Given the description of an element on the screen output the (x, y) to click on. 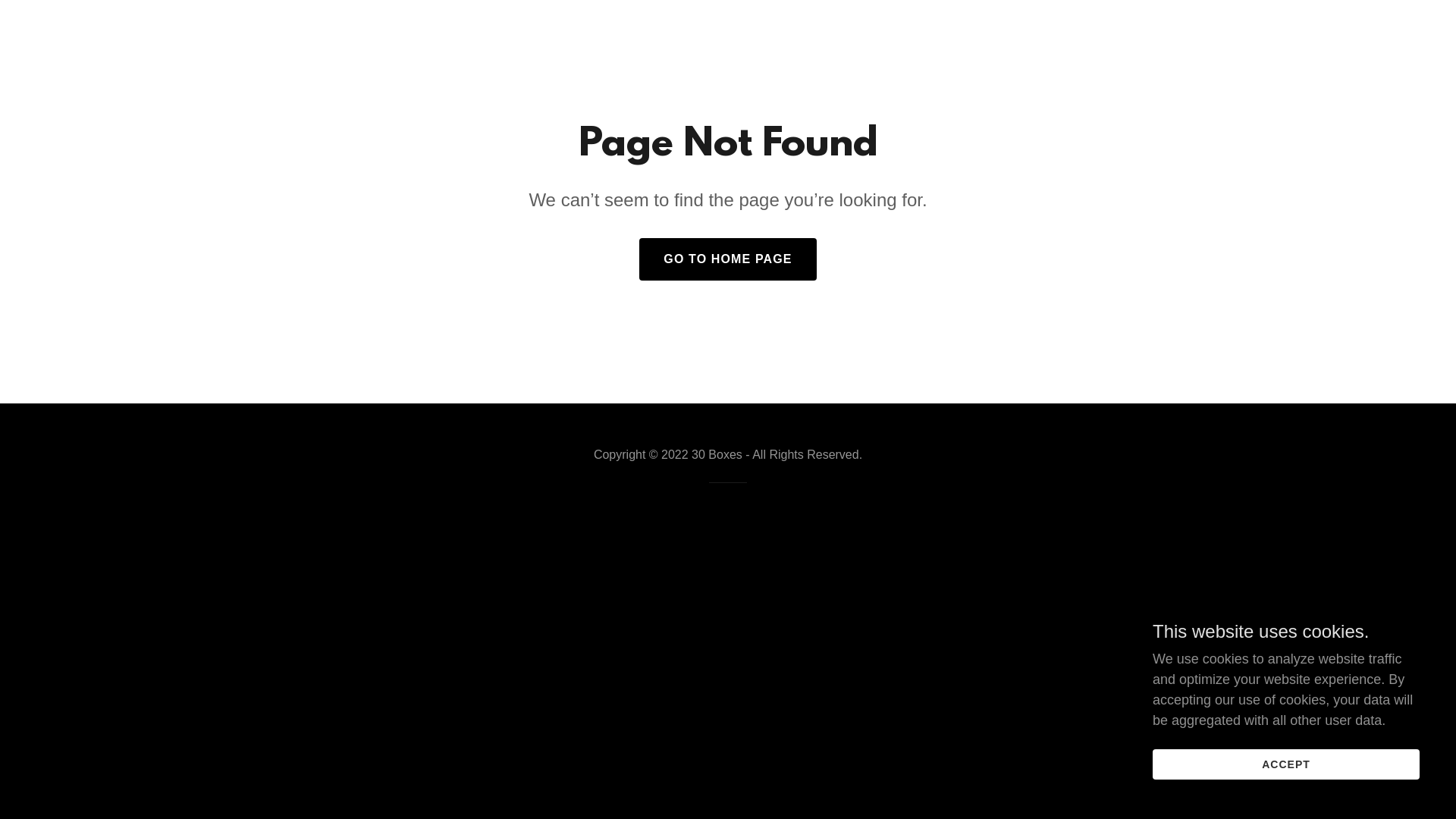
GO TO HOME PAGE Element type: text (727, 259)
ACCEPT Element type: text (1285, 764)
